Given the description of an element on the screen output the (x, y) to click on. 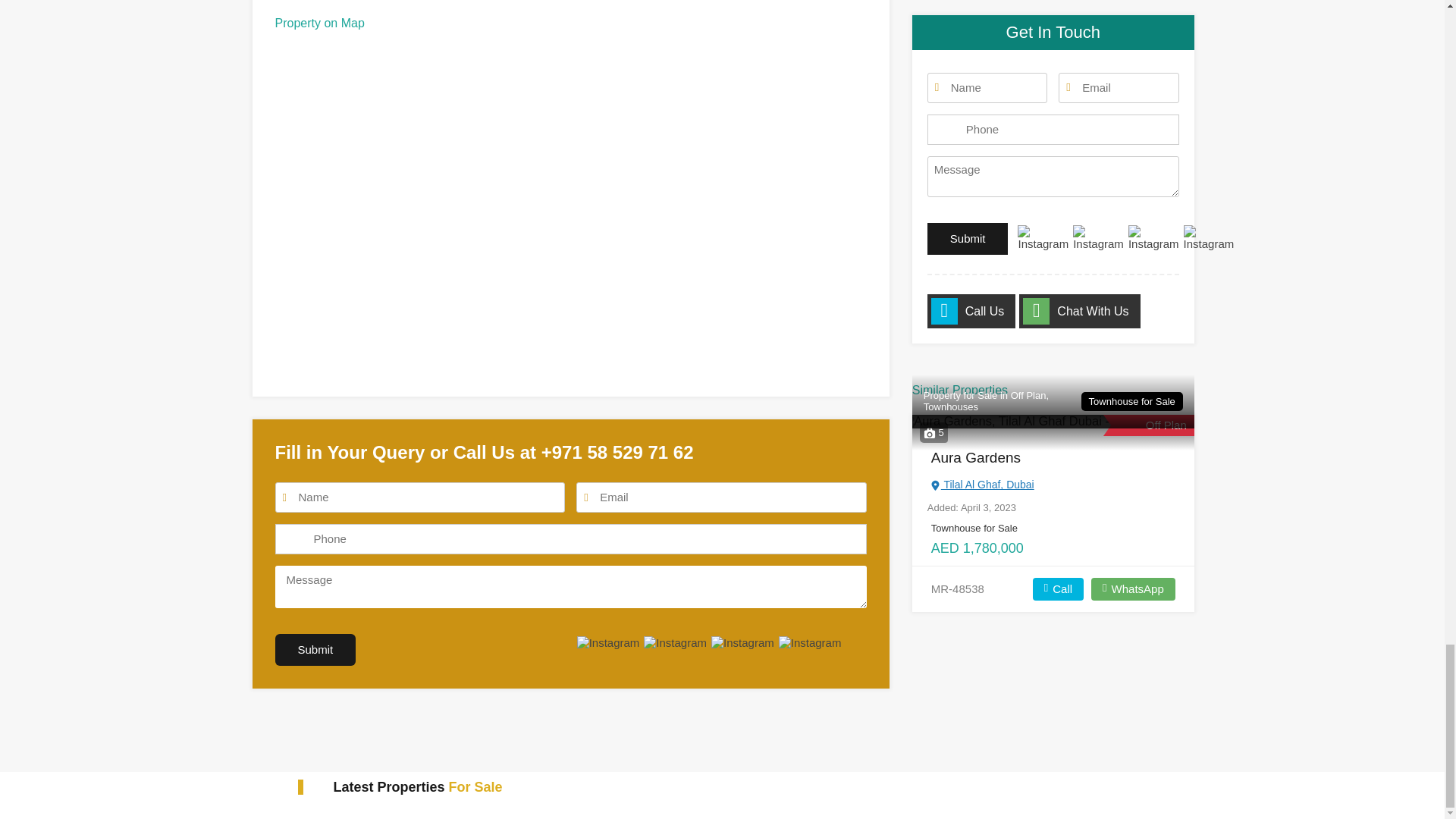
Submit (315, 649)
